Given the description of an element on the screen output the (x, y) to click on. 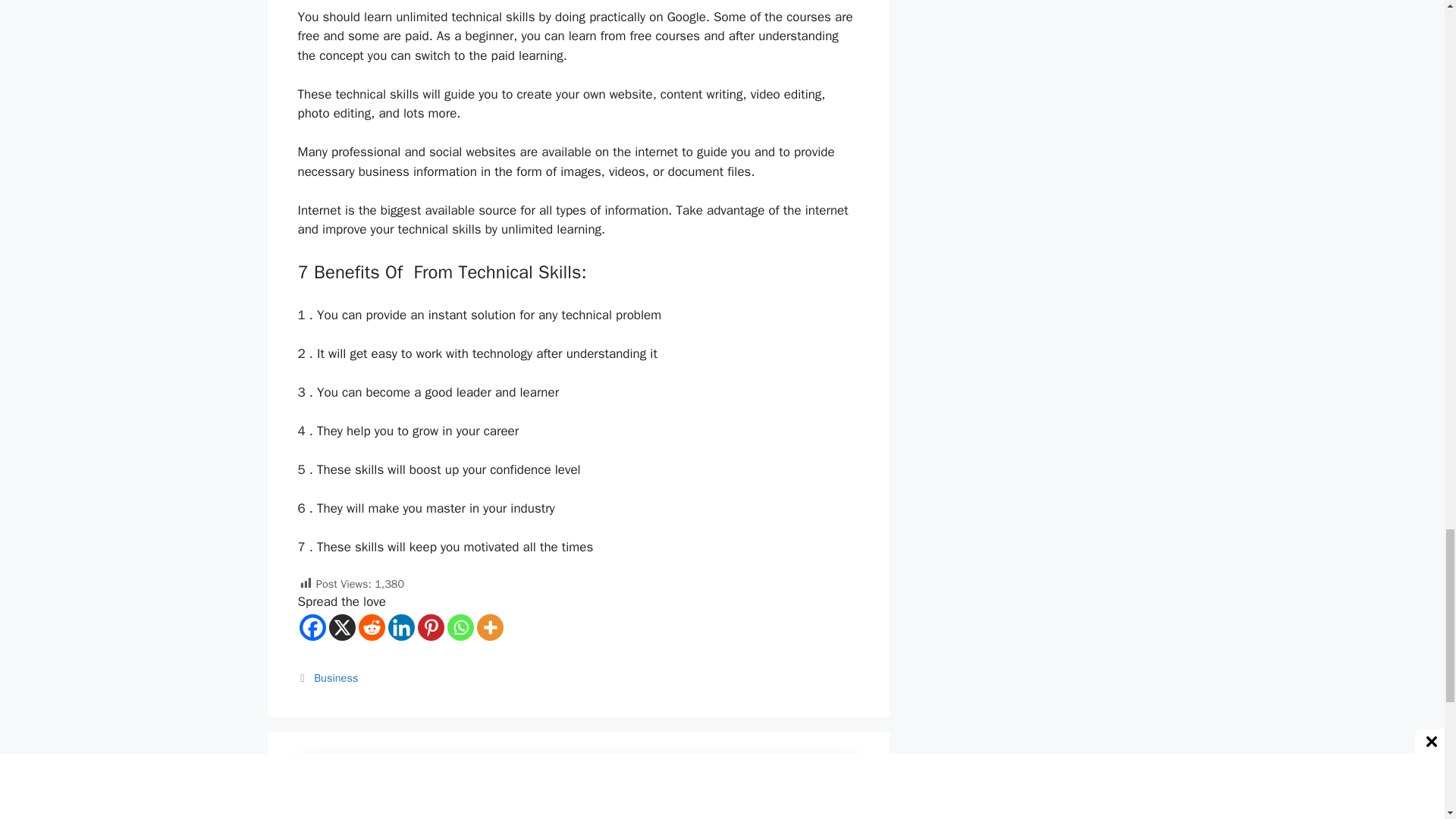
Pinterest (430, 627)
Reddit (371, 627)
Business (336, 677)
Facebook (311, 627)
Linkedin (401, 627)
X (342, 627)
More (489, 627)
Whatsapp (460, 627)
